Given the description of an element on the screen output the (x, y) to click on. 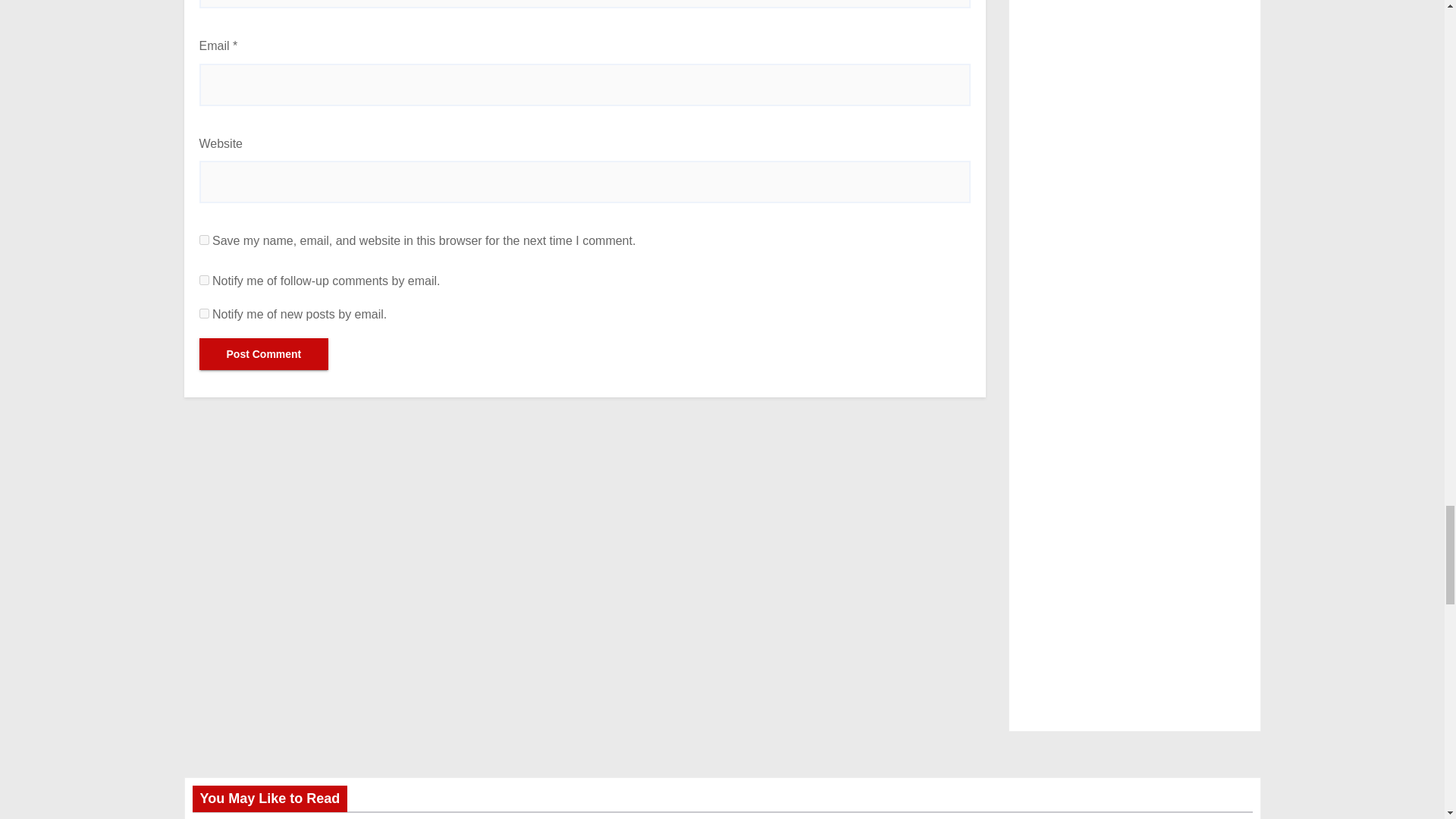
subscribe (203, 313)
yes (203, 239)
Post Comment (263, 354)
subscribe (203, 280)
